Given the description of an element on the screen output the (x, y) to click on. 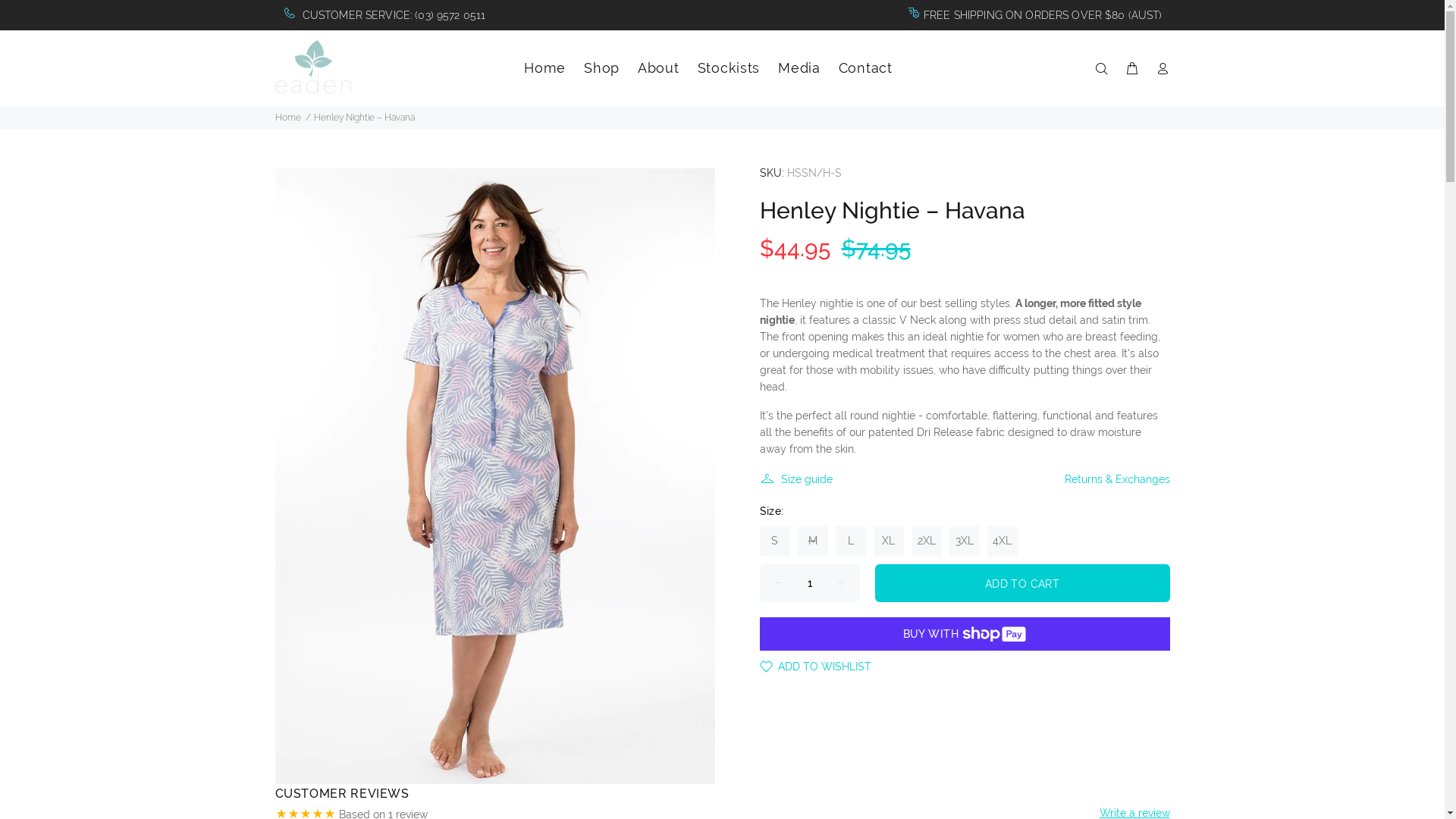
Home Element type: text (559, 67)
Stockists Element type: text (742, 67)
Returns & Exchanges Element type: text (1112, 478)
XL Element type: text (888, 541)
Home Element type: text (287, 117)
2XL Element type: text (926, 541)
Shop Element type: text (616, 67)
L Element type: text (850, 541)
S Element type: text (774, 541)
Media Element type: text (813, 67)
Size guide Element type: text (800, 478)
ADD TO WISHLIST Element type: text (815, 660)
Contact Element type: text (875, 67)
4XL Element type: text (1002, 541)
3XL Element type: text (964, 541)
About Element type: text (672, 67)
ADD TO CART Element type: text (1022, 583)
M Element type: text (812, 541)
